Given the description of an element on the screen output the (x, y) to click on. 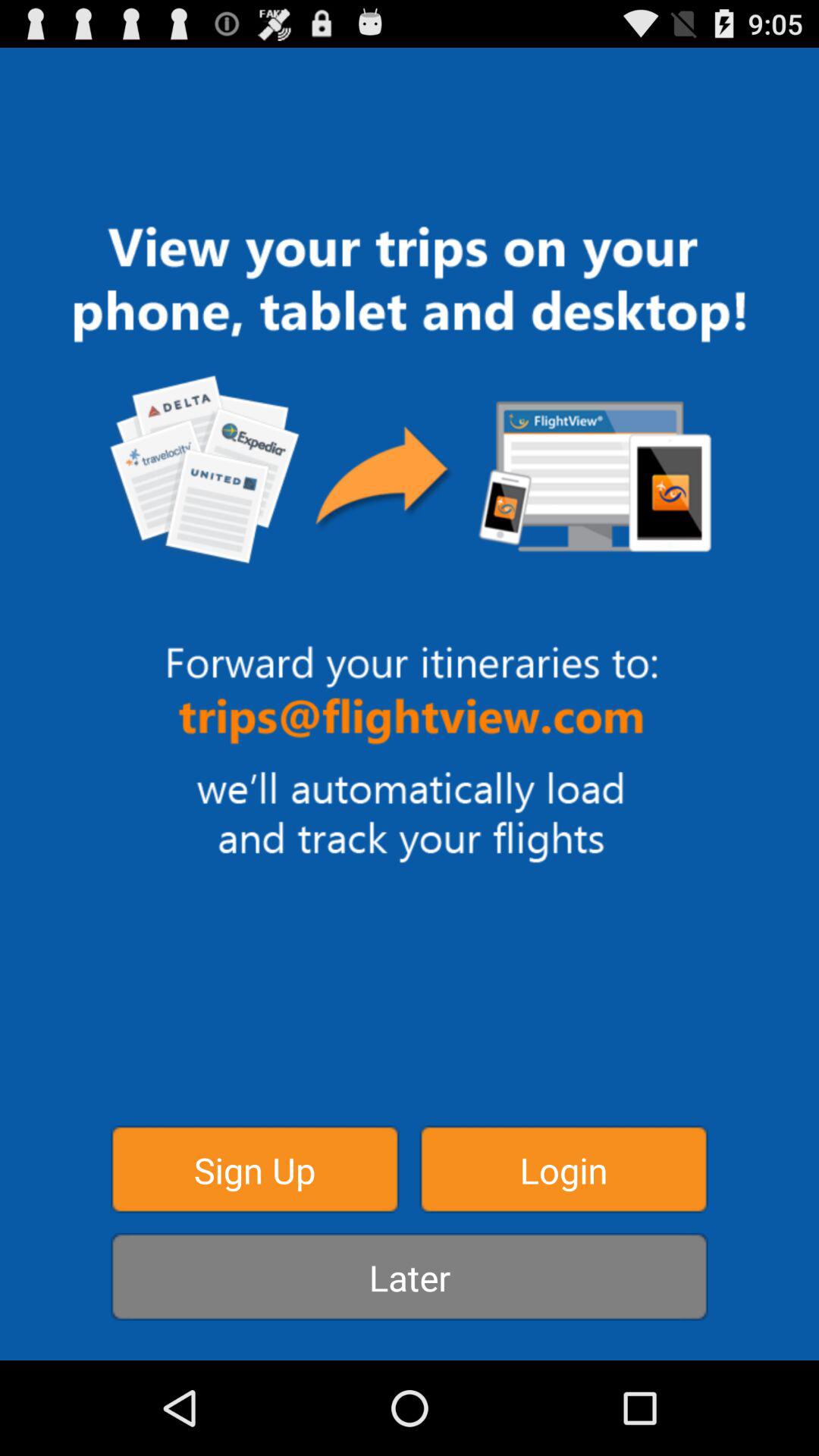
press the login (563, 1169)
